Given the description of an element on the screen output the (x, y) to click on. 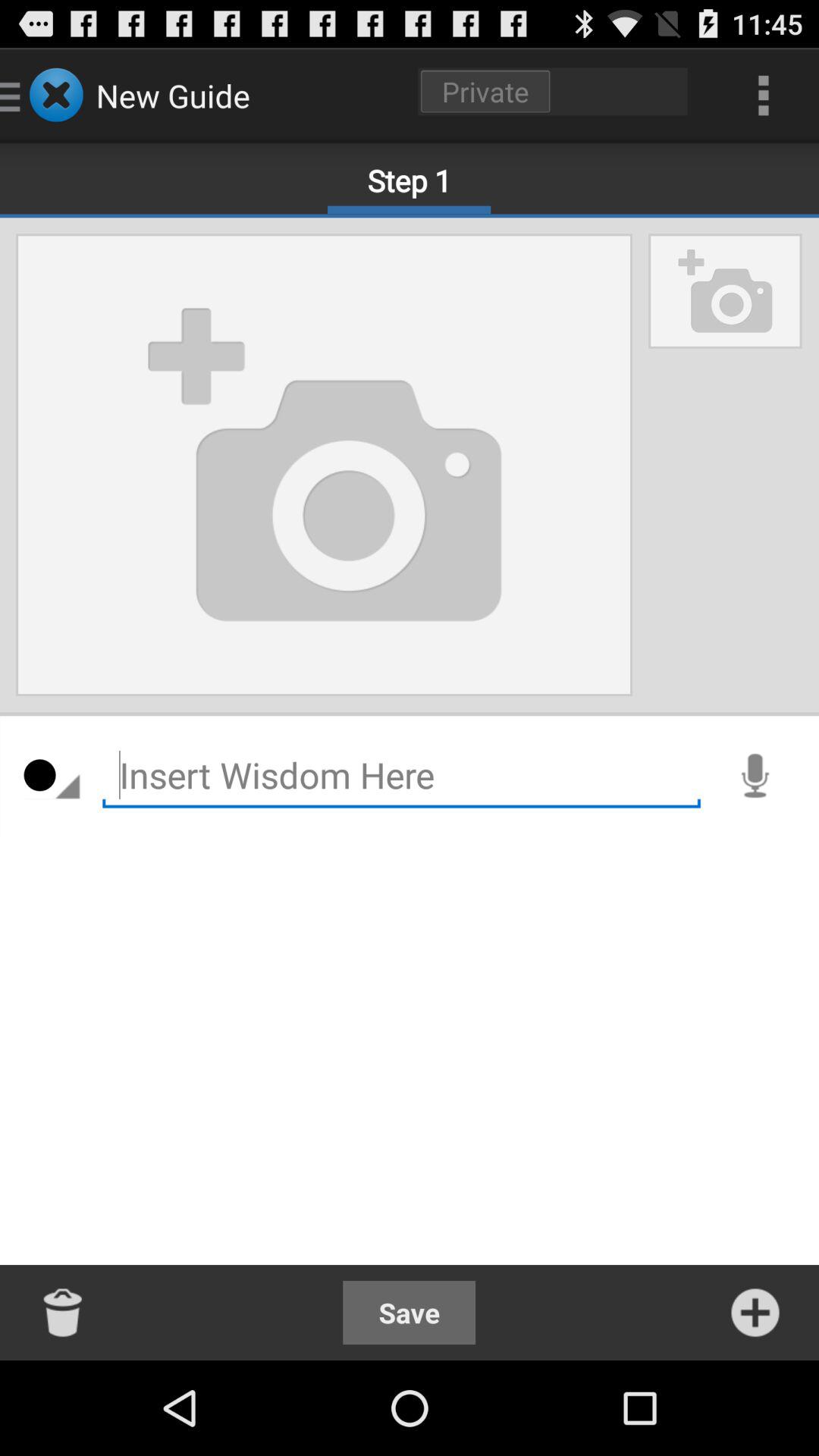
switch private optipn (552, 91)
